Given the description of an element on the screen output the (x, y) to click on. 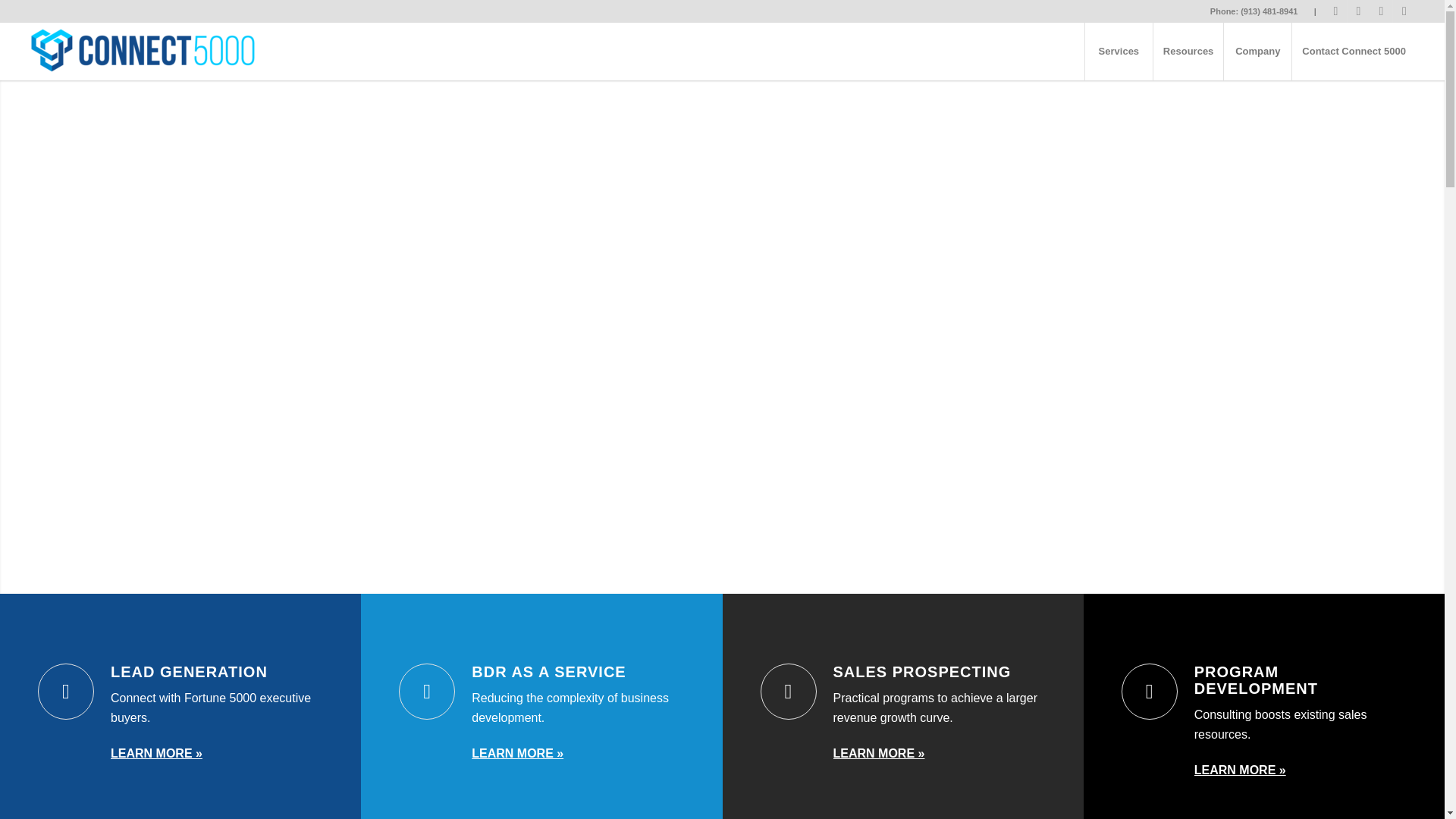
Program Development (1149, 691)
3 (734, 576)
BDR as a Service (426, 691)
BDR AS A SERVICE (548, 671)
Mail (1404, 11)
Sales Prospecting (787, 691)
BDR as a Service (548, 671)
LinkedIn (1359, 11)
Company (1257, 51)
Next (1409, 337)
